Given the description of an element on the screen output the (x, y) to click on. 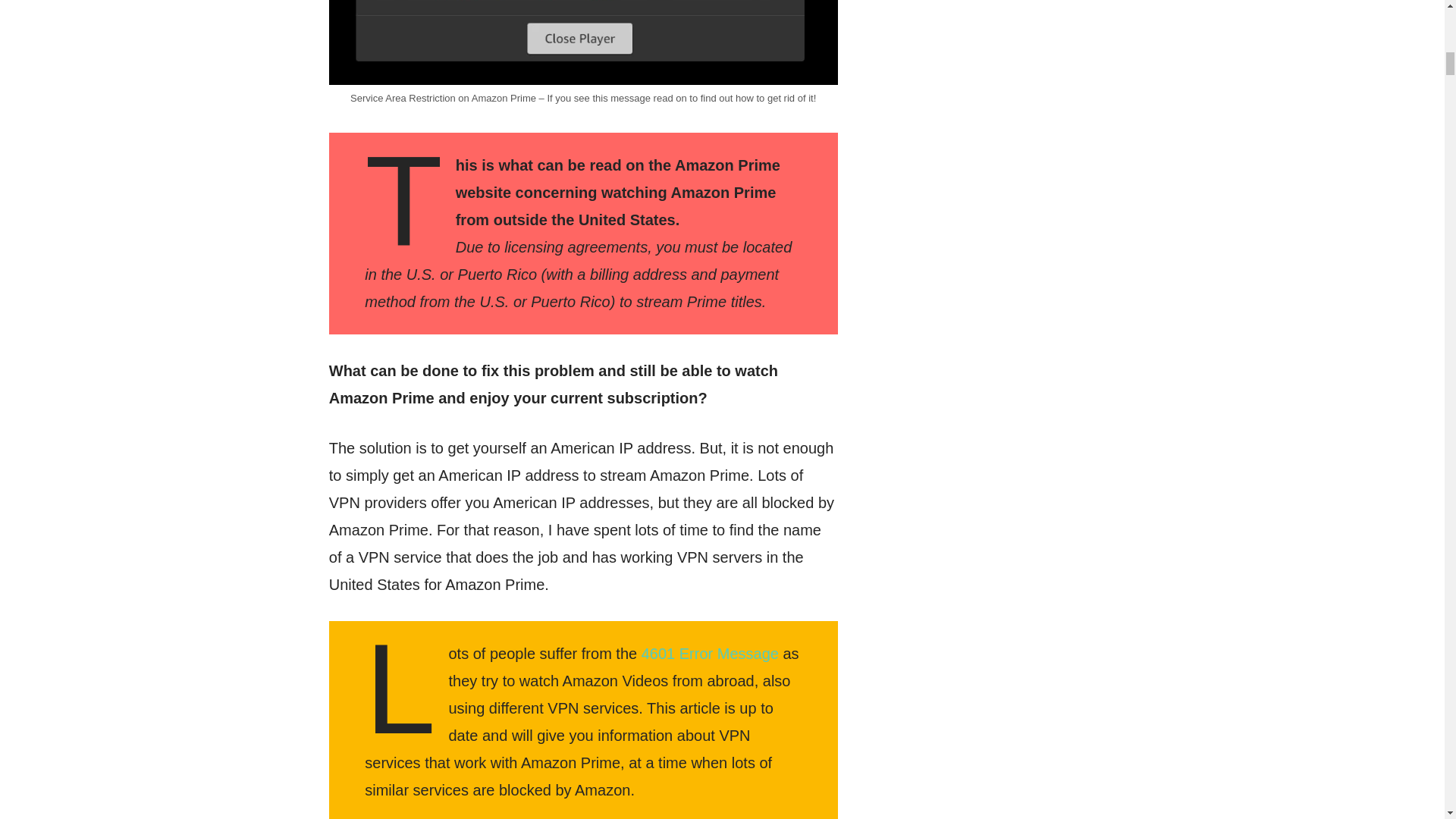
4601 Error Message (710, 653)
